Given the description of an element on the screen output the (x, y) to click on. 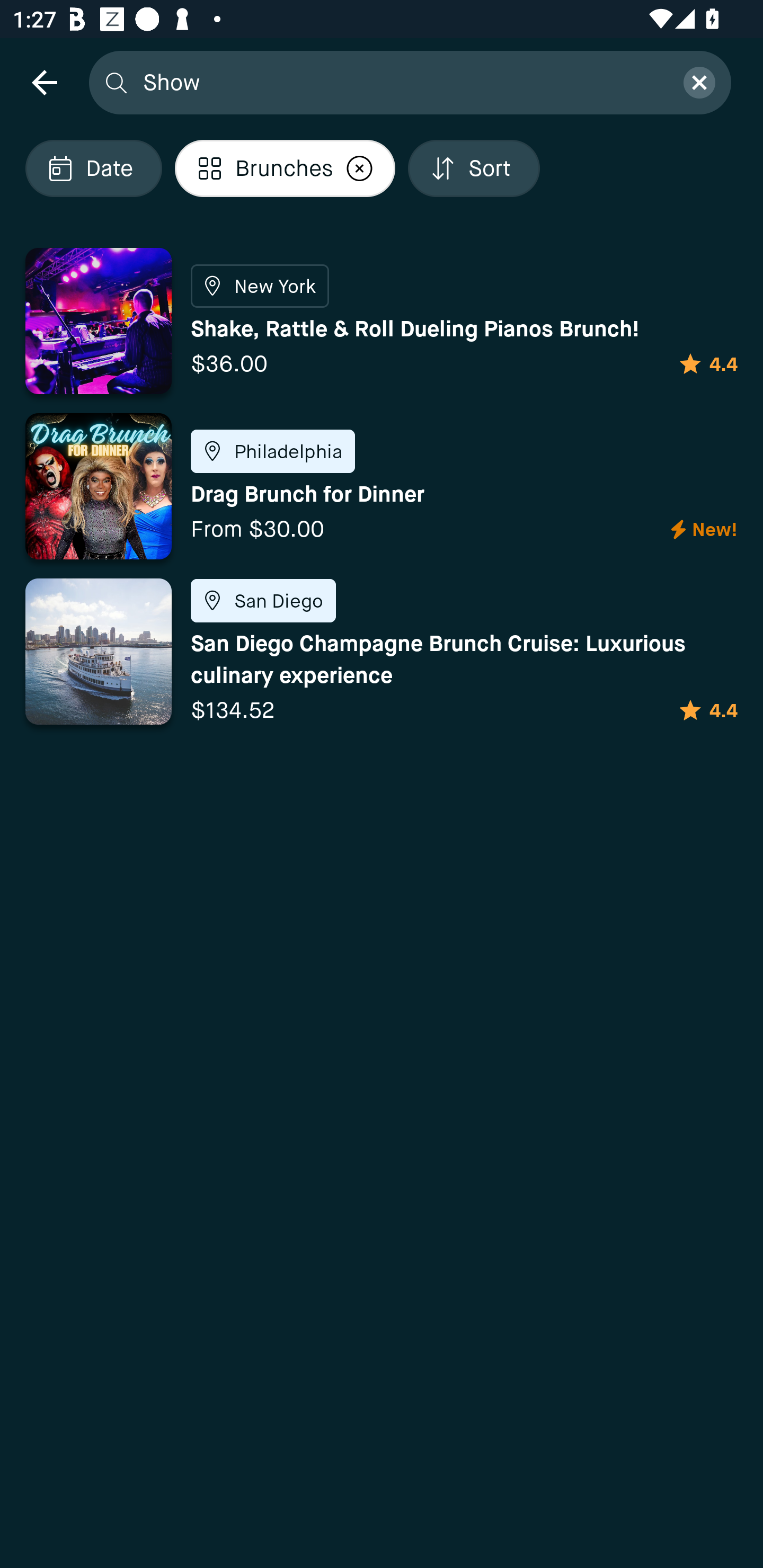
navigation icon (44, 81)
Show (402, 81)
Localized description Date (93, 168)
Localized description (359, 168)
Localized description Sort (474, 168)
